Given the description of an element on the screen output the (x, y) to click on. 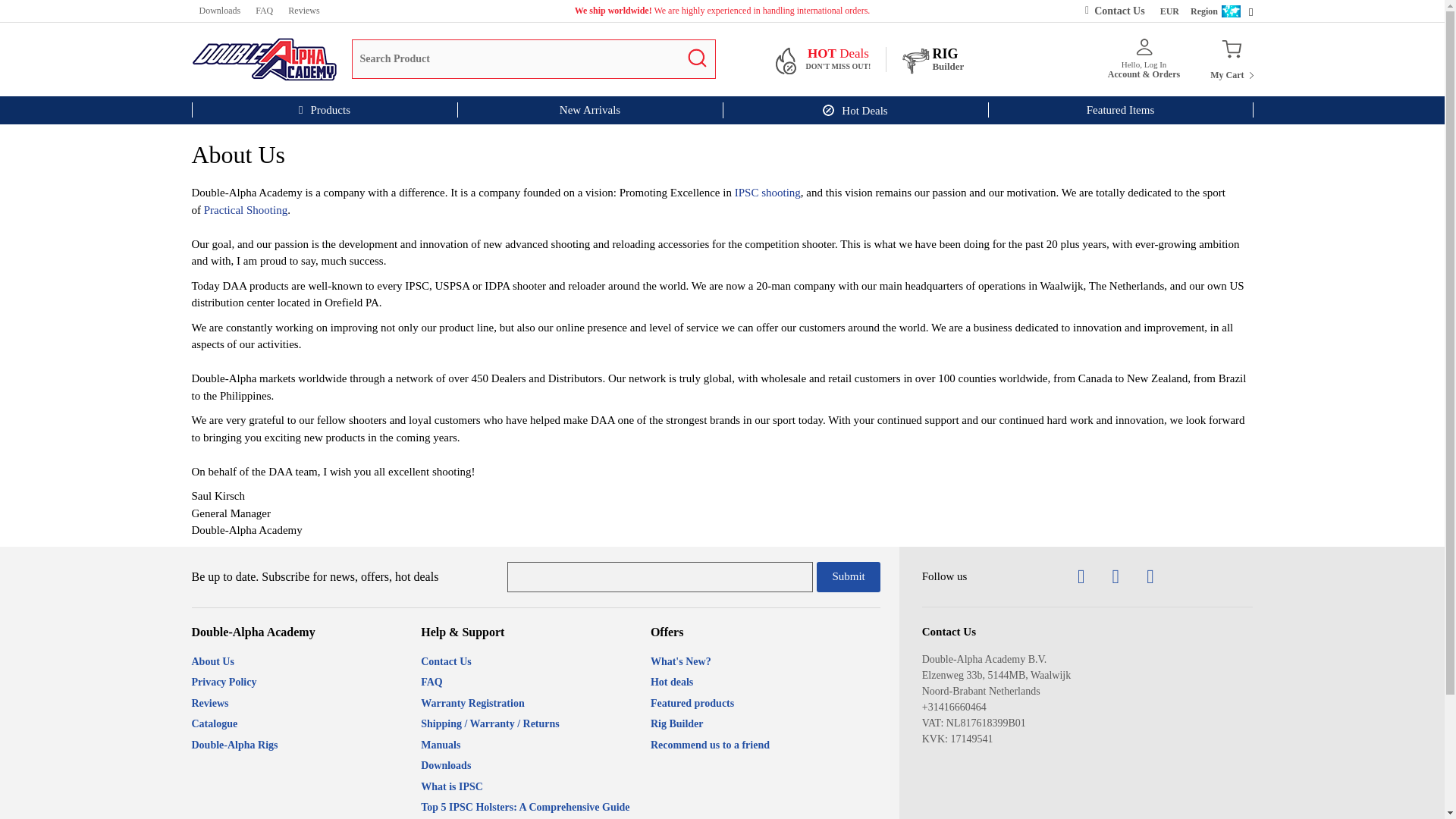
Reviews (303, 10)
Downloads (1230, 59)
FAQ (218, 10)
Products (264, 10)
Contact Us (323, 109)
